Given the description of an element on the screen output the (x, y) to click on. 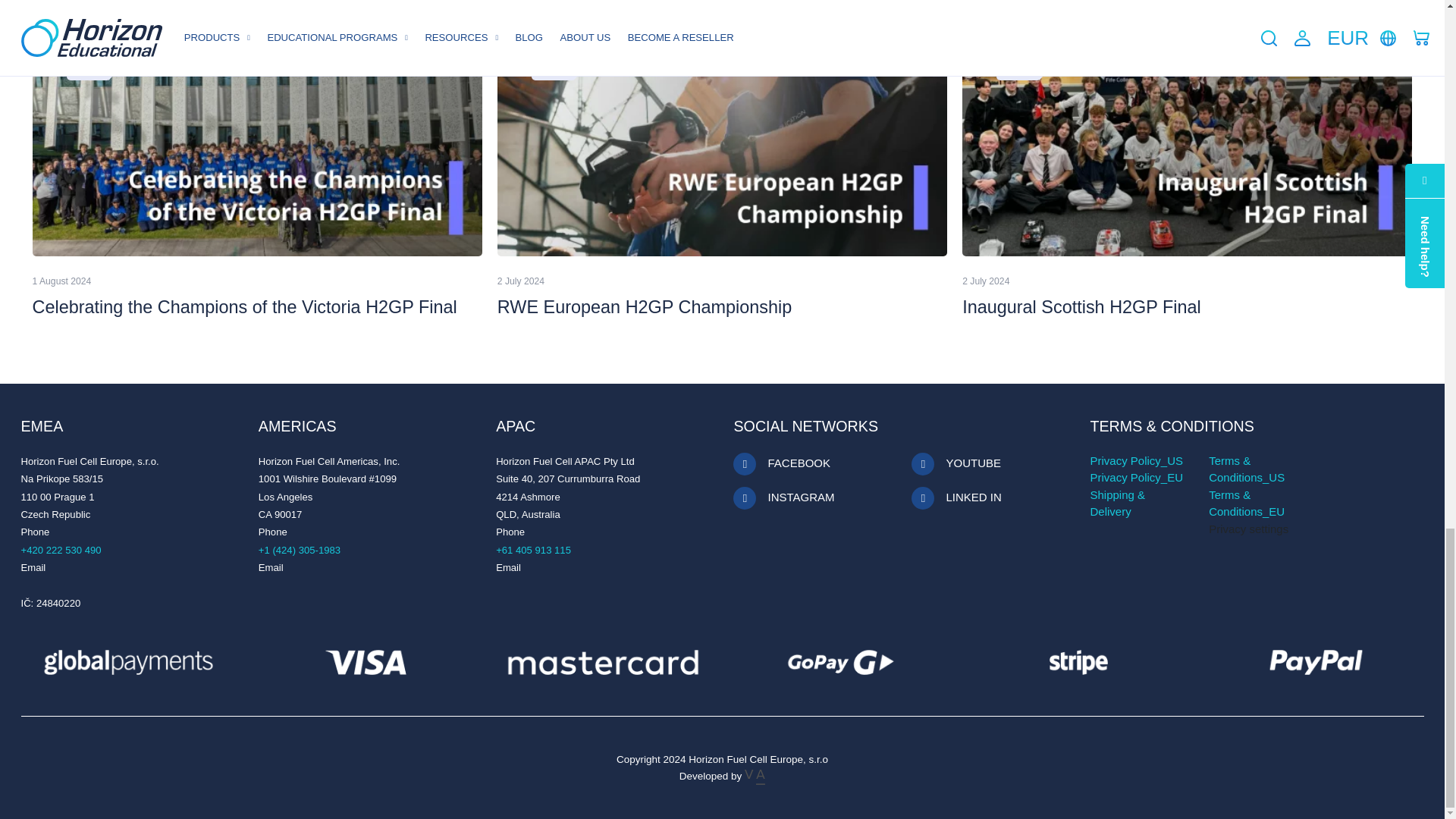
RWE European H2GP Championship (644, 306)
Via Aurea s.r.o. (754, 776)
Celebrating the Champions of the Victoria H2GP Final (244, 306)
Inaugural Scottish H2GP Final (1081, 306)
